Given the description of an element on the screen output the (x, y) to click on. 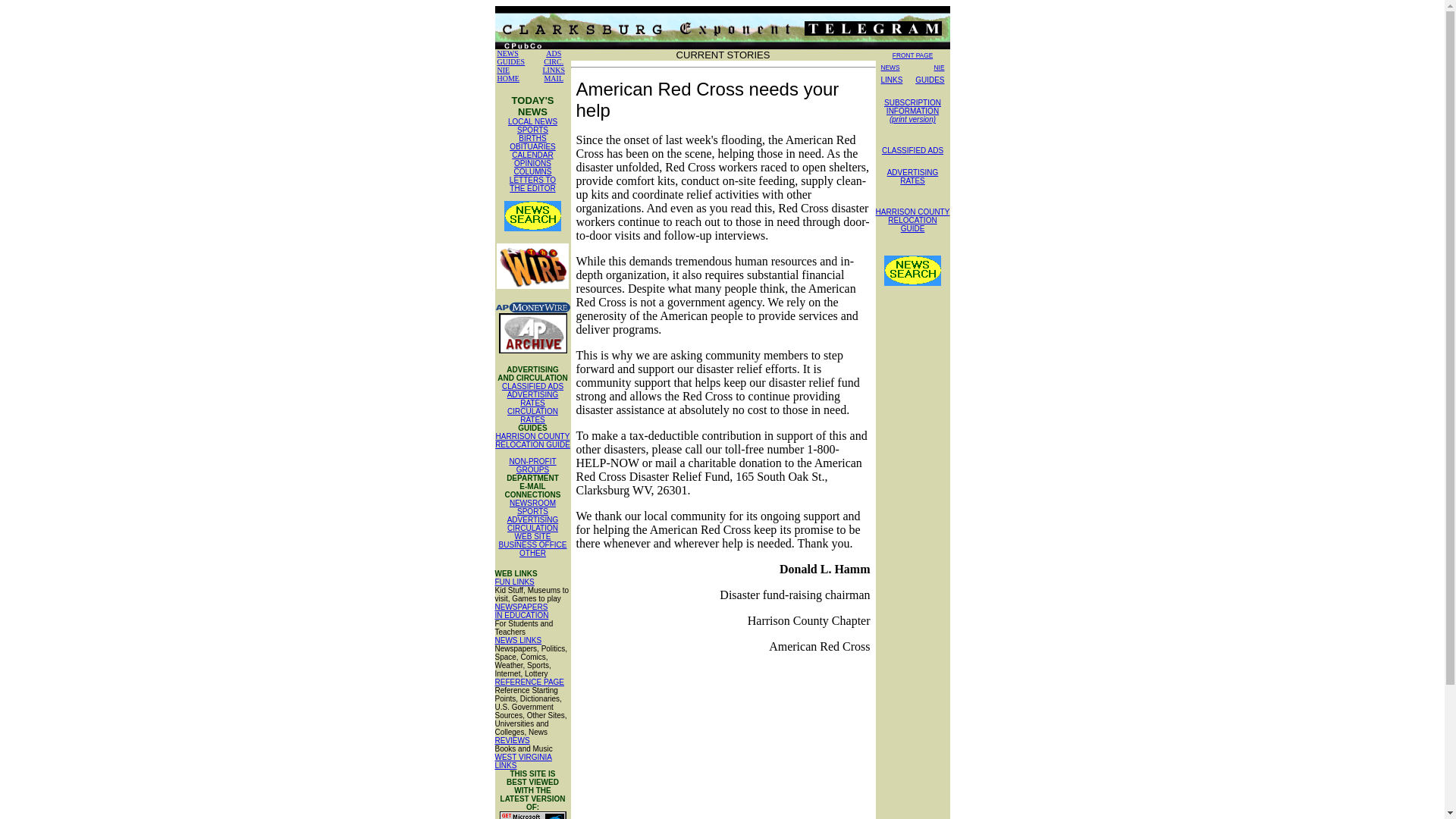
ADVERTISING (532, 519)
NON-PROFIT (532, 484)
HARRISON COUNTY (532, 461)
CLASSIFIED ADS (533, 436)
MAIL (532, 386)
BUSINESS OFFICE (553, 78)
CIRCULATION (531, 544)
OPINIONS (531, 528)
